Given the description of an element on the screen output the (x, y) to click on. 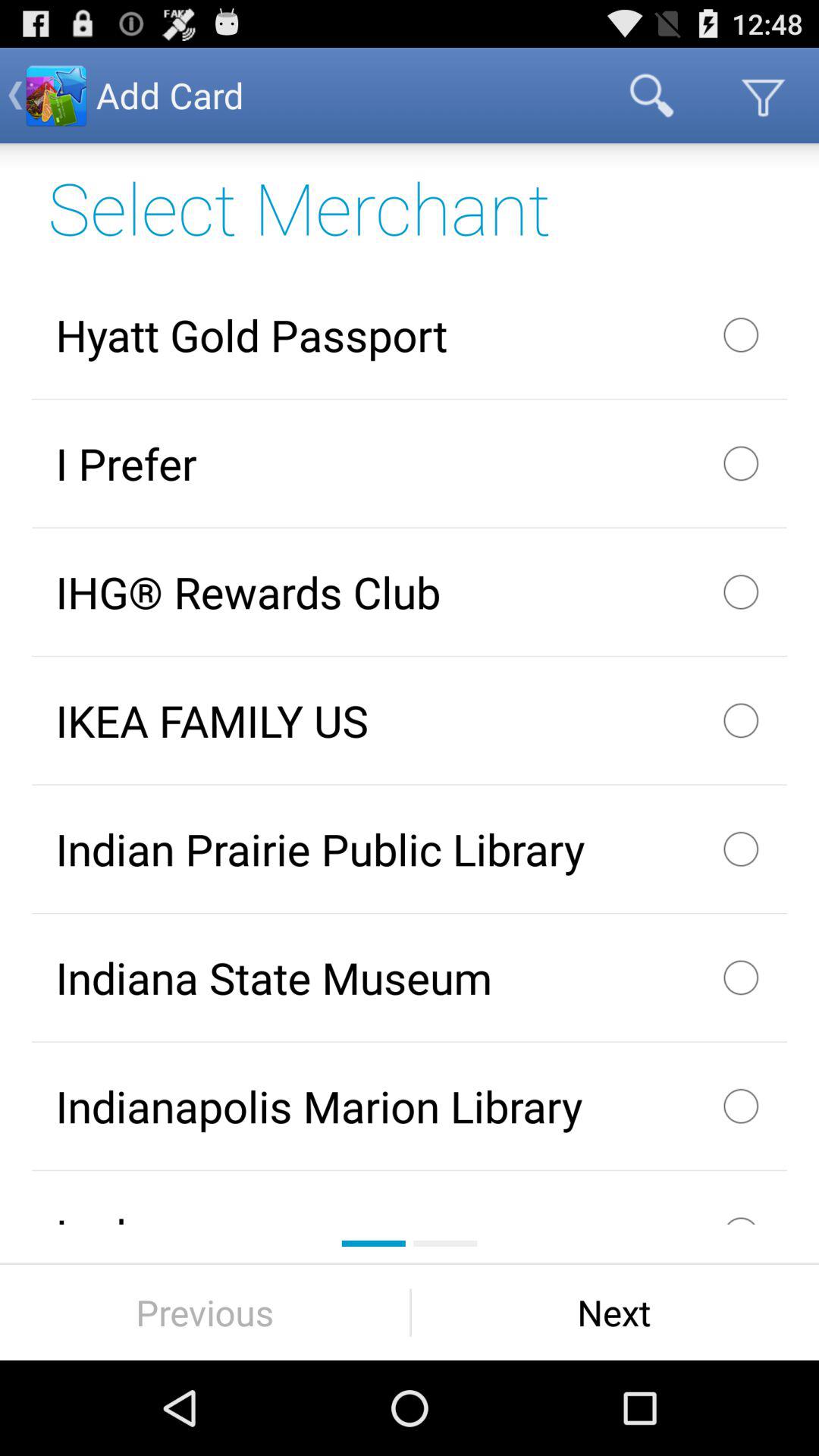
press the previous (204, 1312)
